Given the description of an element on the screen output the (x, y) to click on. 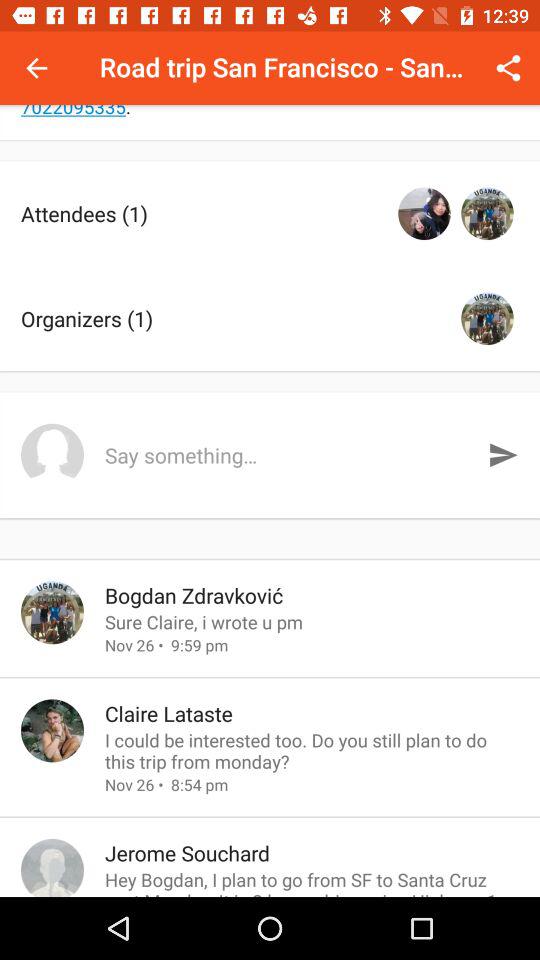
go back (36, 68)
